Given the description of an element on the screen output the (x, y) to click on. 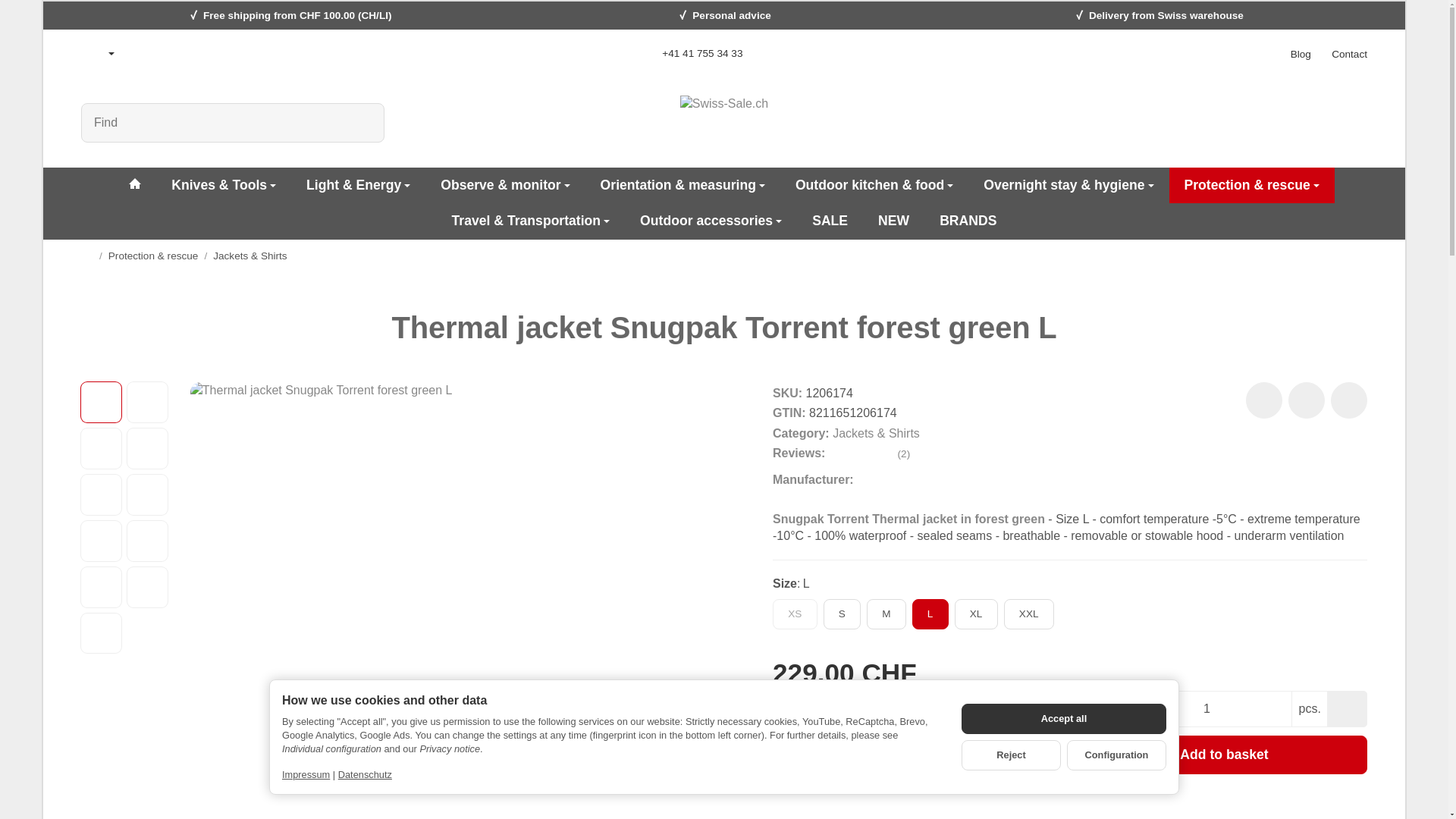
Swiss-Sale.ch (134, 185)
Snugpak (878, 481)
1 (1206, 709)
Homepage (87, 255)
Swiss-Sale.ch (724, 123)
Basket (1351, 122)
Blog (1300, 53)
Snugpak Impact Fleece Shirt Black (126, 327)
Log in (1312, 122)
Contact (1349, 53)
Please select a language. (98, 53)
Contact form (1349, 53)
Outdoor Blog from Swiss-Sale.ch (1300, 53)
